Given the description of an element on the screen output the (x, y) to click on. 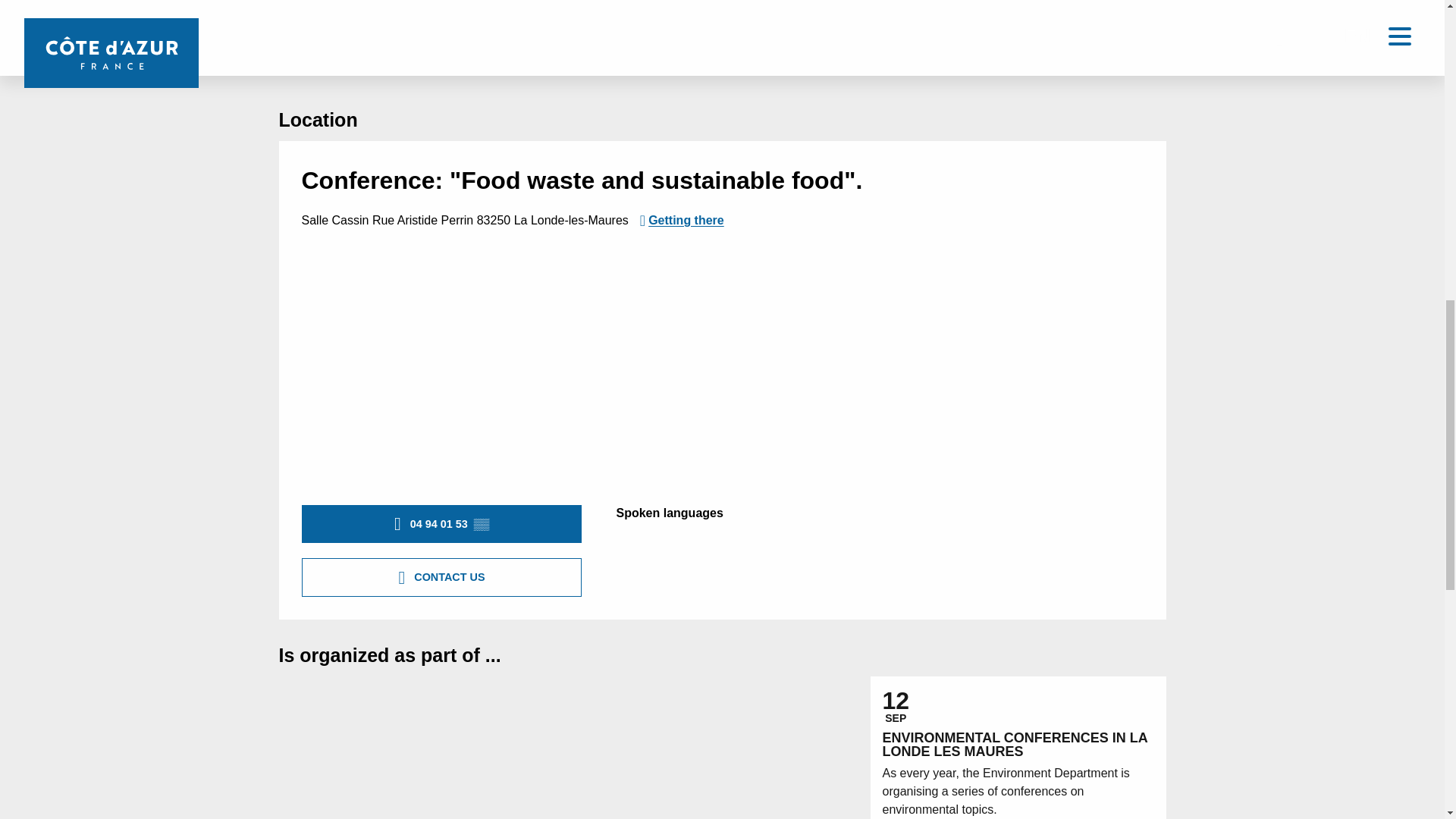
CONTACT US (1025, 30)
Getting there (681, 220)
CONTACT US (441, 576)
